Given the description of an element on the screen output the (x, y) to click on. 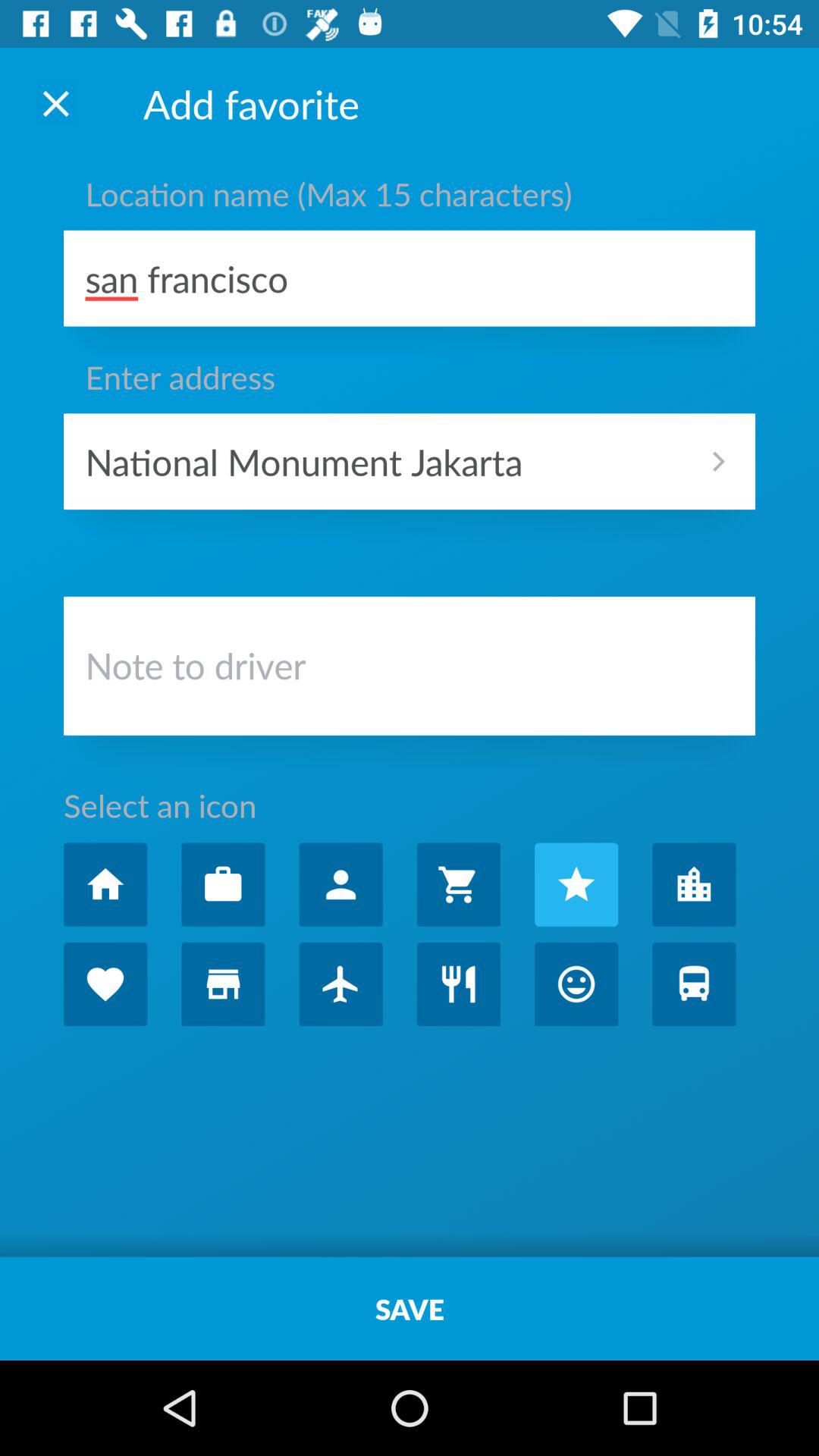
add note for this entry (409, 669)
